Given the description of an element on the screen output the (x, y) to click on. 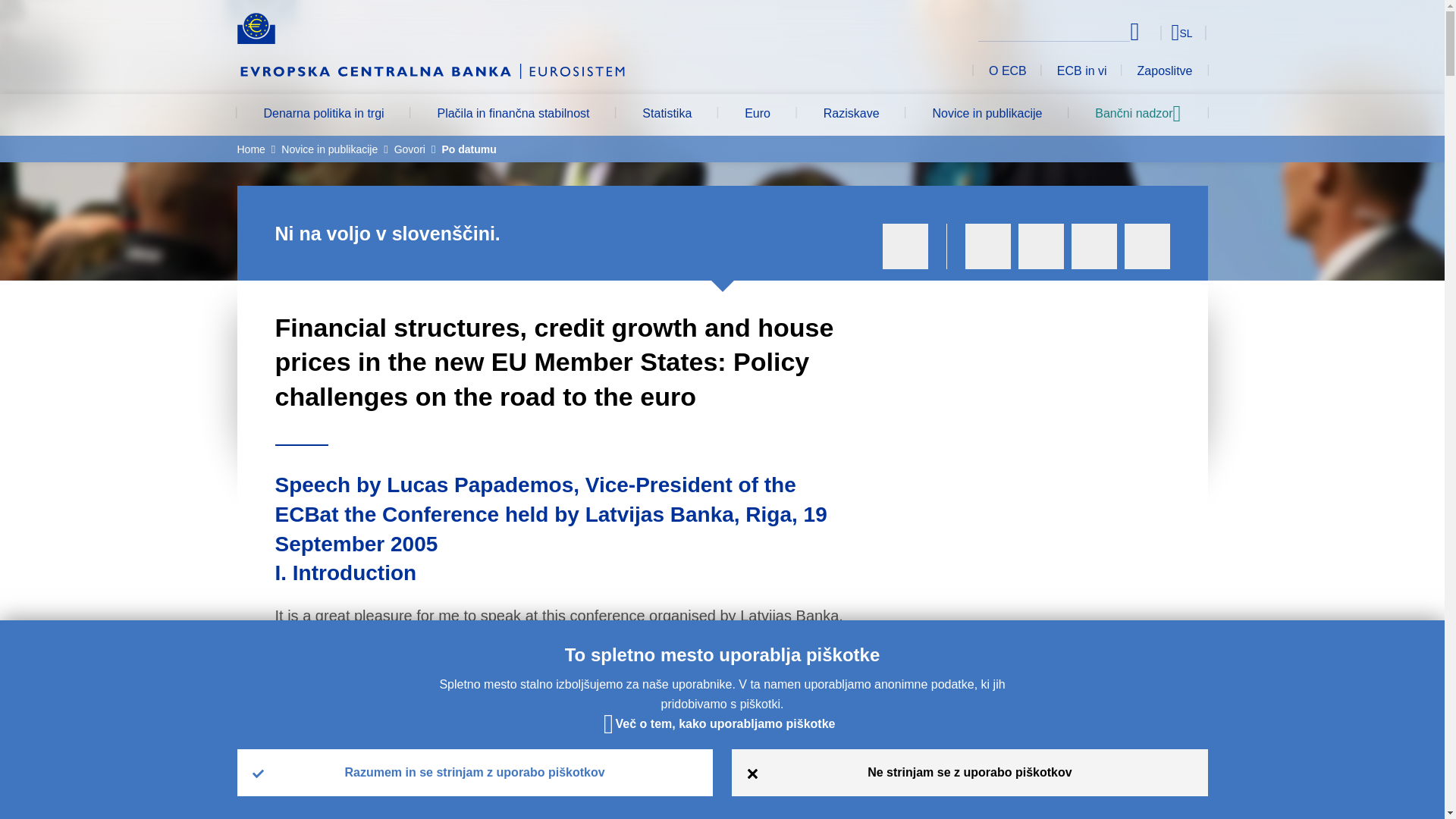
Select language (1153, 32)
Denarna politika in trgi (322, 114)
